Given the description of an element on the screen output the (x, y) to click on. 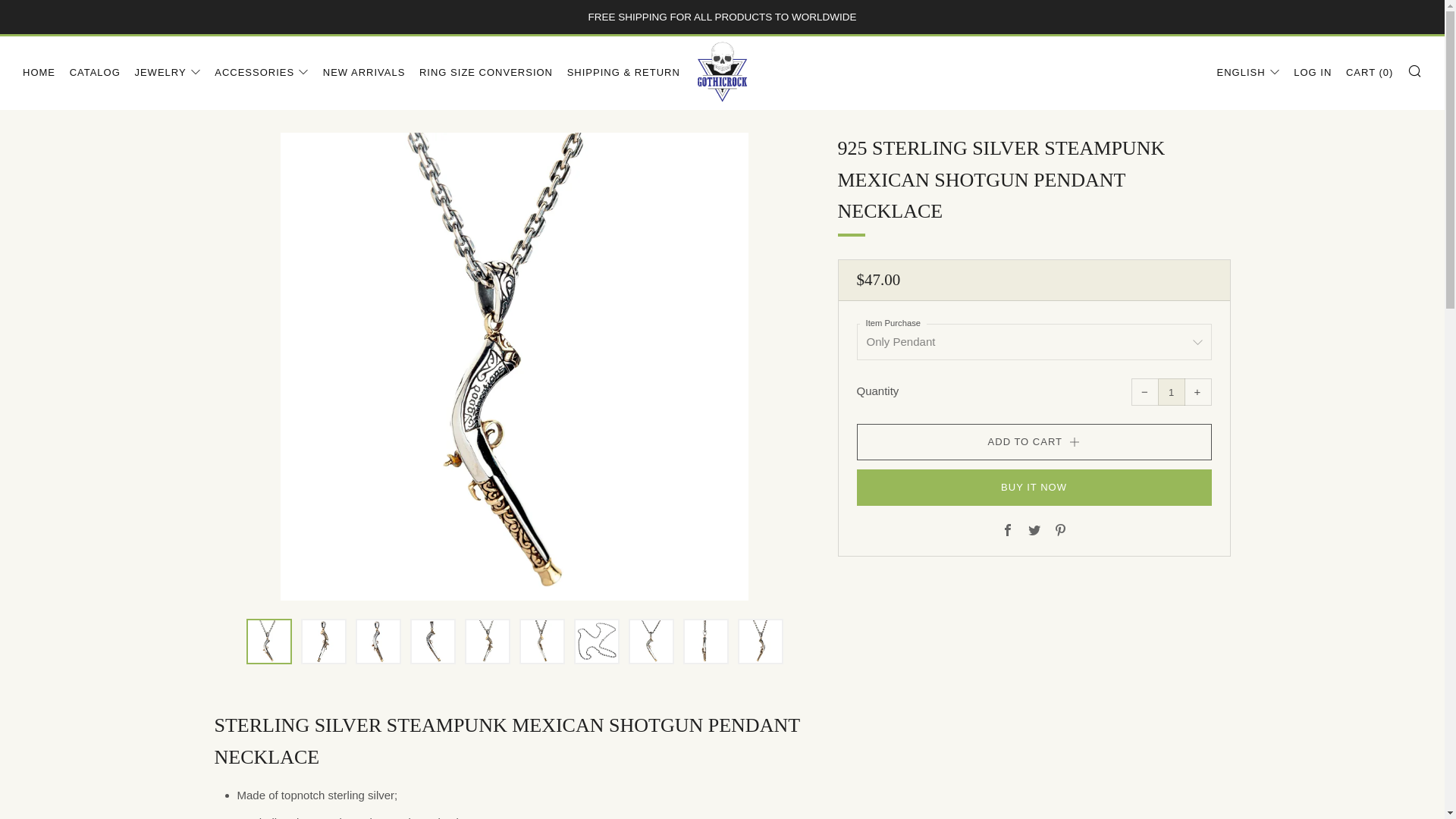
1 (1171, 391)
